Given the description of an element on the screen output the (x, y) to click on. 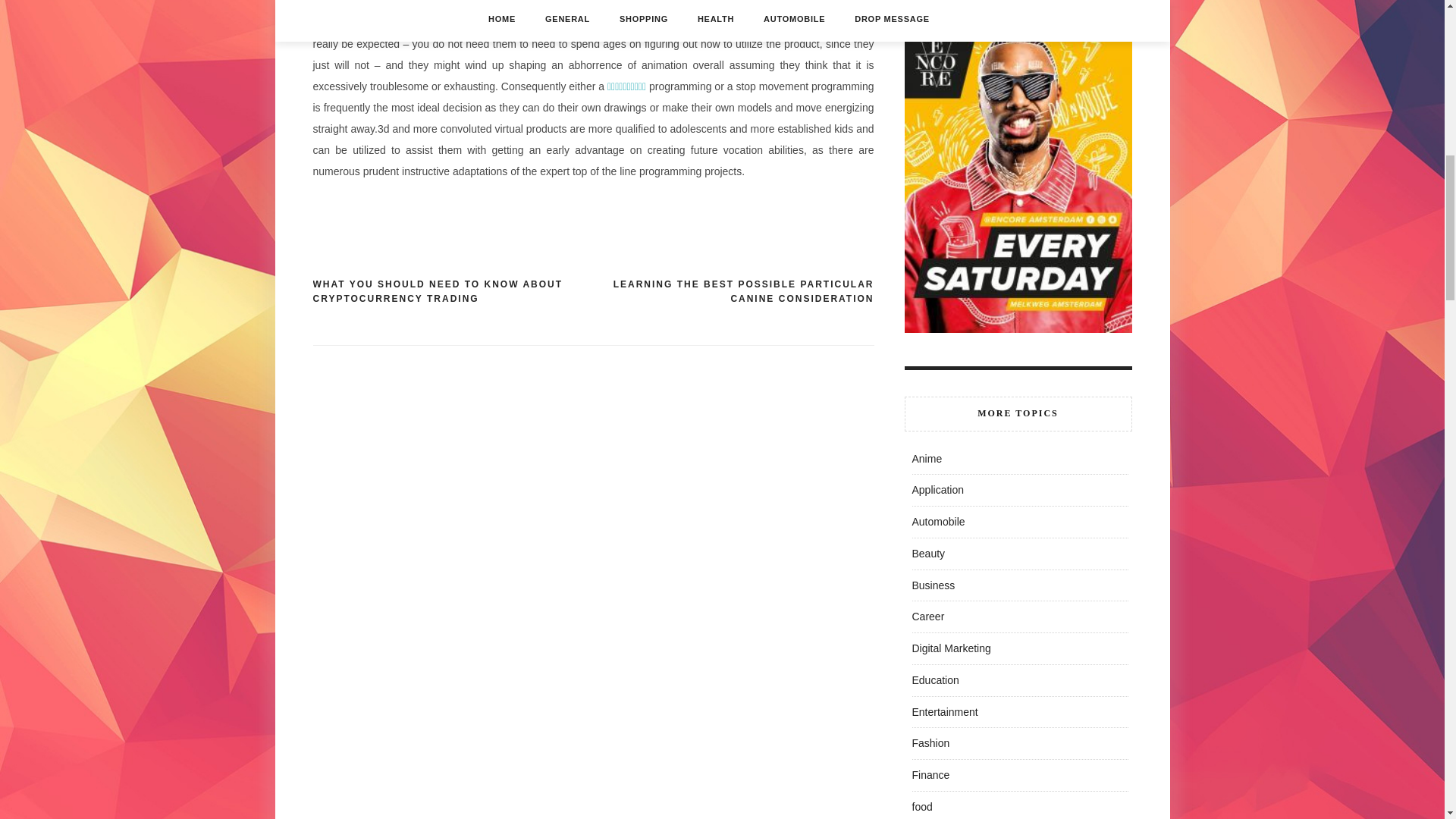
Automobile (937, 521)
Anime (926, 458)
food (921, 806)
Finance (930, 775)
WHAT YOU SHOULD NEED TO KNOW ABOUT CRYPTOCURRENCY TRADING (452, 292)
Beauty (927, 553)
Career (927, 616)
LEARNING THE BEST POSSIBLE PARTICULAR CANINE CONSIDERATION (732, 292)
Digital Marketing (950, 648)
Application (937, 490)
